Given the description of an element on the screen output the (x, y) to click on. 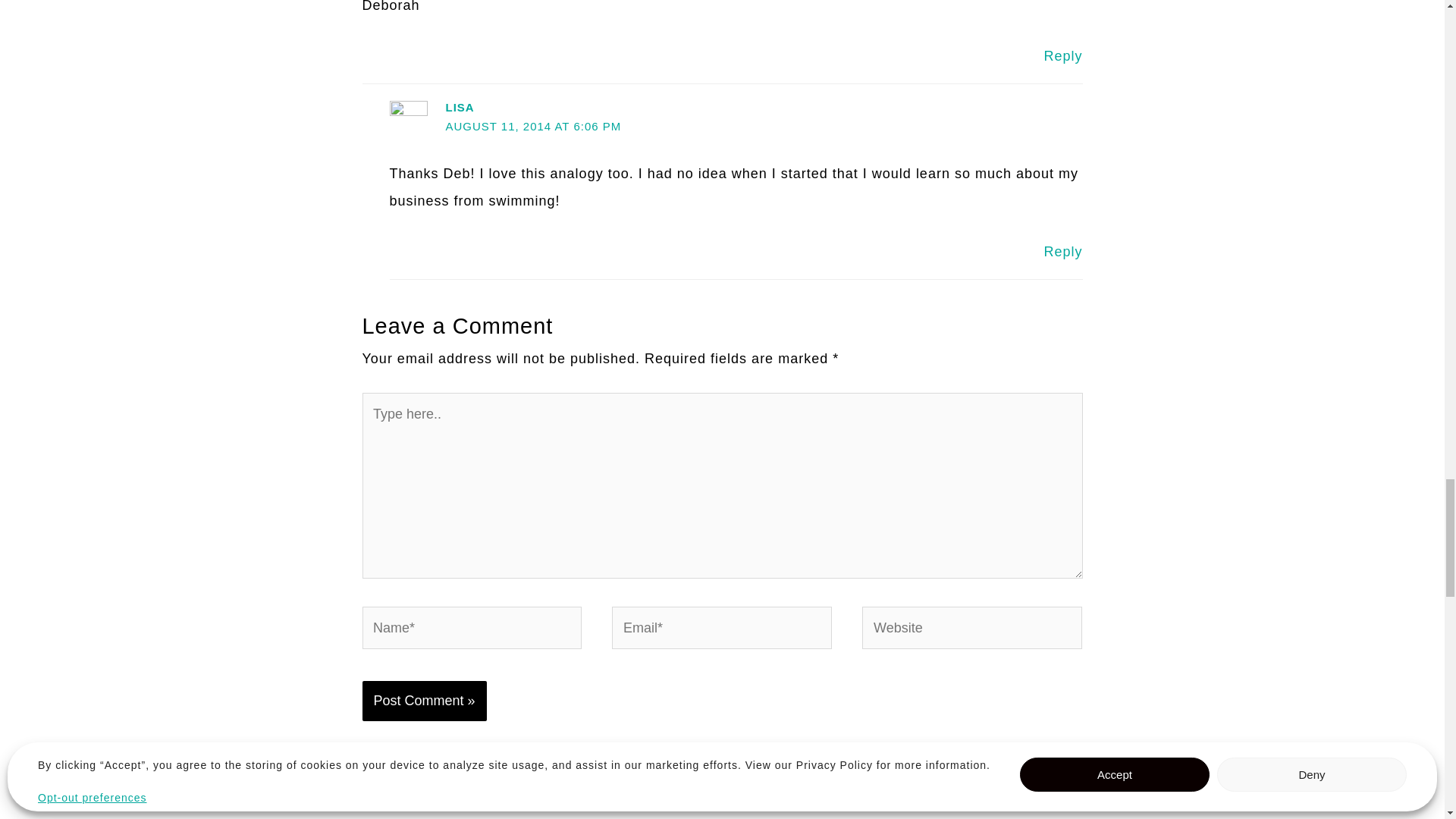
Reply (1062, 251)
Reply (1062, 55)
AUGUST 11, 2014 AT 6:06 PM (533, 125)
